Given the description of an element on the screen output the (x, y) to click on. 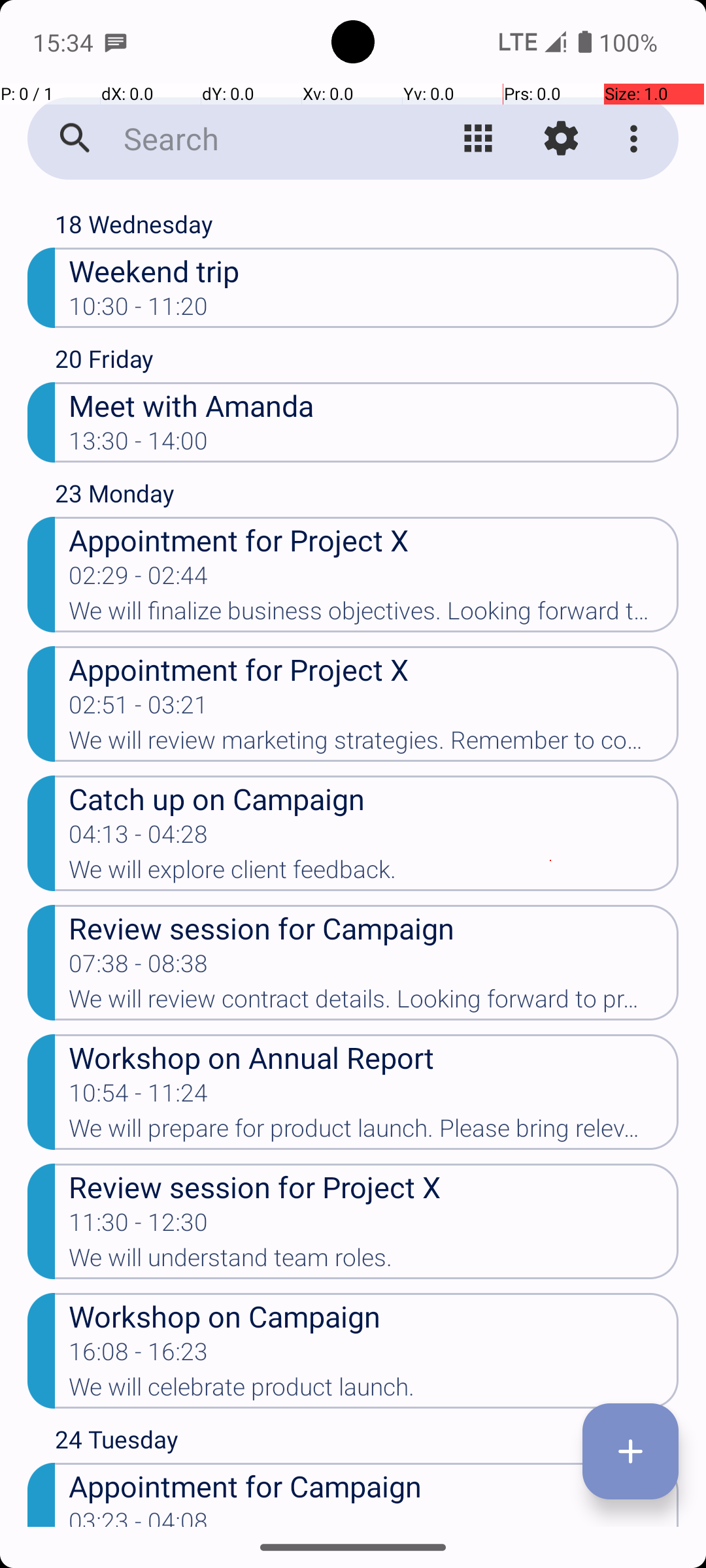
23 Monday Element type: android.widget.TextView (366, 496)
24 Tuesday Element type: android.widget.TextView (366, 1442)
Weekend trip Element type: android.widget.TextView (373, 269)
10:30 - 11:20 Element type: android.widget.TextView (137, 309)
Meet with Amanda Element type: android.widget.TextView (373, 404)
13:30 - 14:00 Element type: android.widget.TextView (137, 444)
02:29 - 02:44 Element type: android.widget.TextView (137, 579)
We will finalize business objectives. Looking forward to productive discussions. Element type: android.widget.TextView (373, 614)
02:51 - 03:21 Element type: android.widget.TextView (137, 708)
We will review marketing strategies. Remember to confirm attendance. Element type: android.widget.TextView (373, 743)
04:13 - 04:28 Element type: android.widget.TextView (137, 837)
We will explore client feedback. Element type: android.widget.TextView (373, 873)
07:38 - 08:38 Element type: android.widget.TextView (137, 967)
We will review contract details. Looking forward to productive discussions. Element type: android.widget.TextView (373, 1002)
10:54 - 11:24 Element type: android.widget.TextView (137, 1096)
We will prepare for product launch. Please bring relevant documents. Element type: android.widget.TextView (373, 1131)
11:30 - 12:30 Element type: android.widget.TextView (137, 1225)
We will understand team roles. Element type: android.widget.TextView (373, 1261)
16:08 - 16:23 Element type: android.widget.TextView (137, 1355)
We will celebrate product launch. Element type: android.widget.TextView (373, 1390)
03:23 - 04:08 Element type: android.widget.TextView (137, 1516)
